Given the description of an element on the screen output the (x, y) to click on. 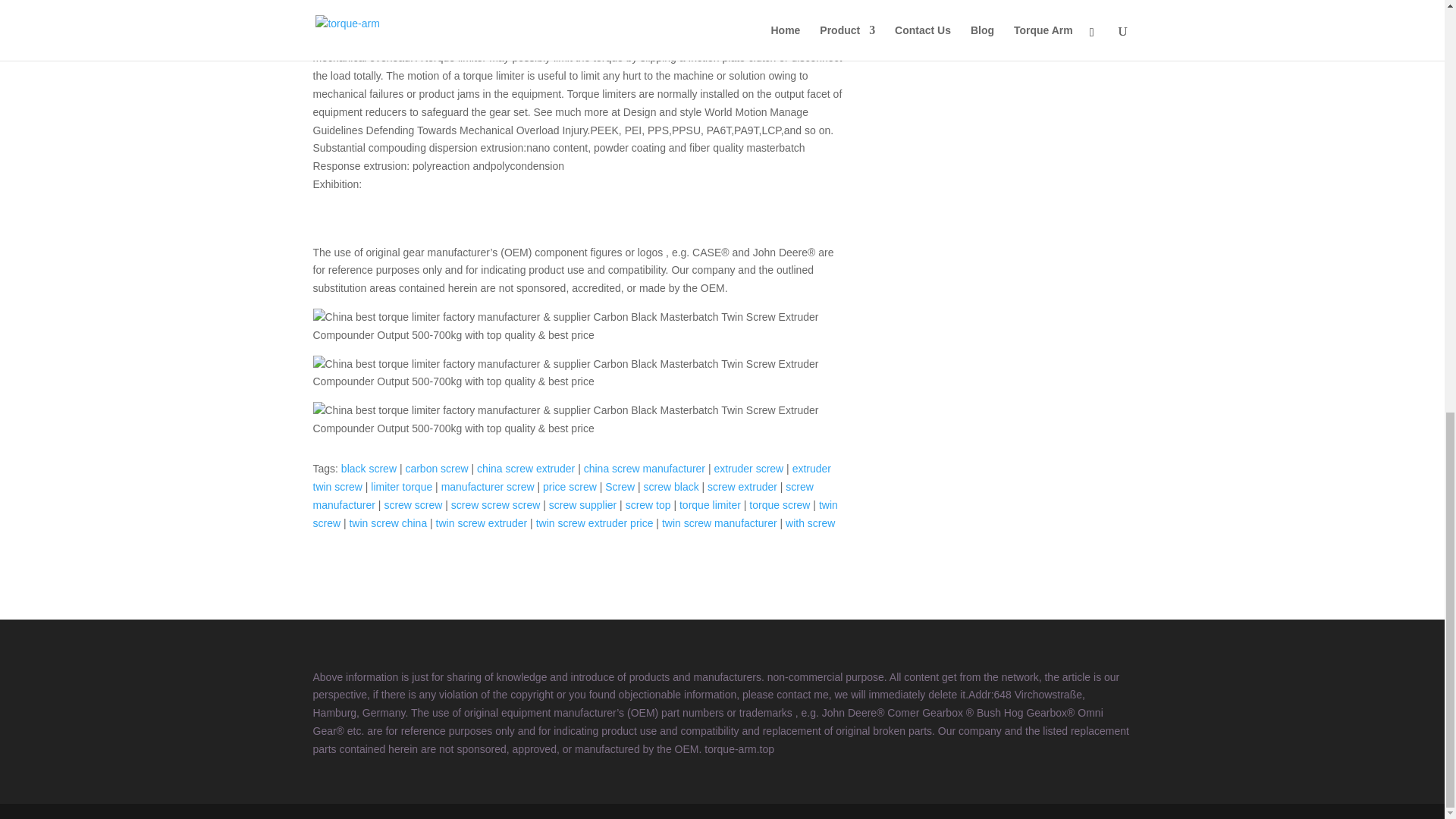
screw top (648, 504)
screw manufacturer (562, 495)
carbon screw (435, 468)
twin screw china (387, 522)
china screw extruder (526, 468)
screw screw screw (495, 504)
twin screw manufacturer (719, 522)
extruder twin screw (572, 477)
torque screw (779, 504)
black screw (368, 468)
